Given the description of an element on the screen output the (x, y) to click on. 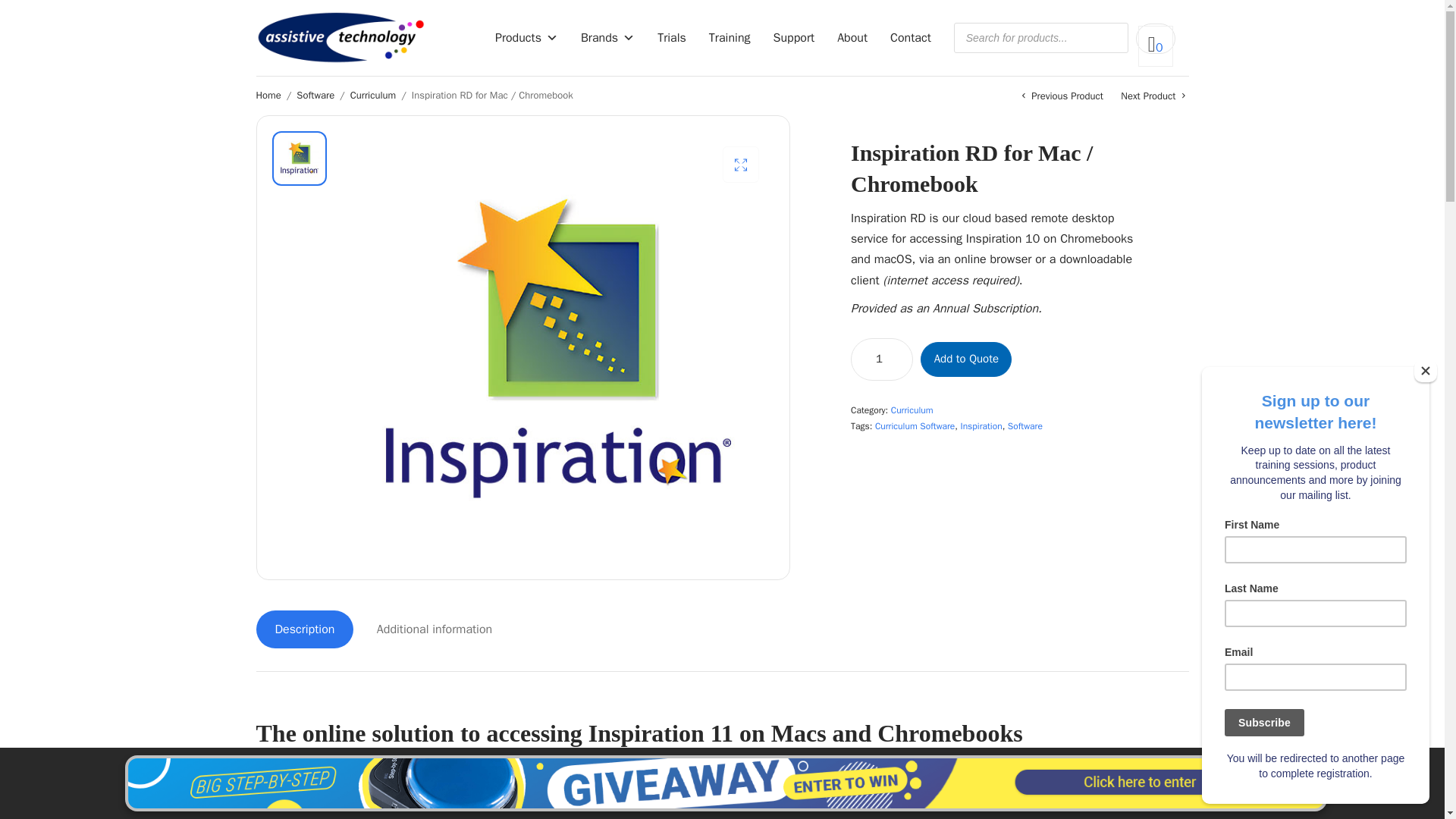
Products (526, 37)
Assistive Technology (341, 37)
1 (882, 359)
